Given the description of an element on the screen output the (x, y) to click on. 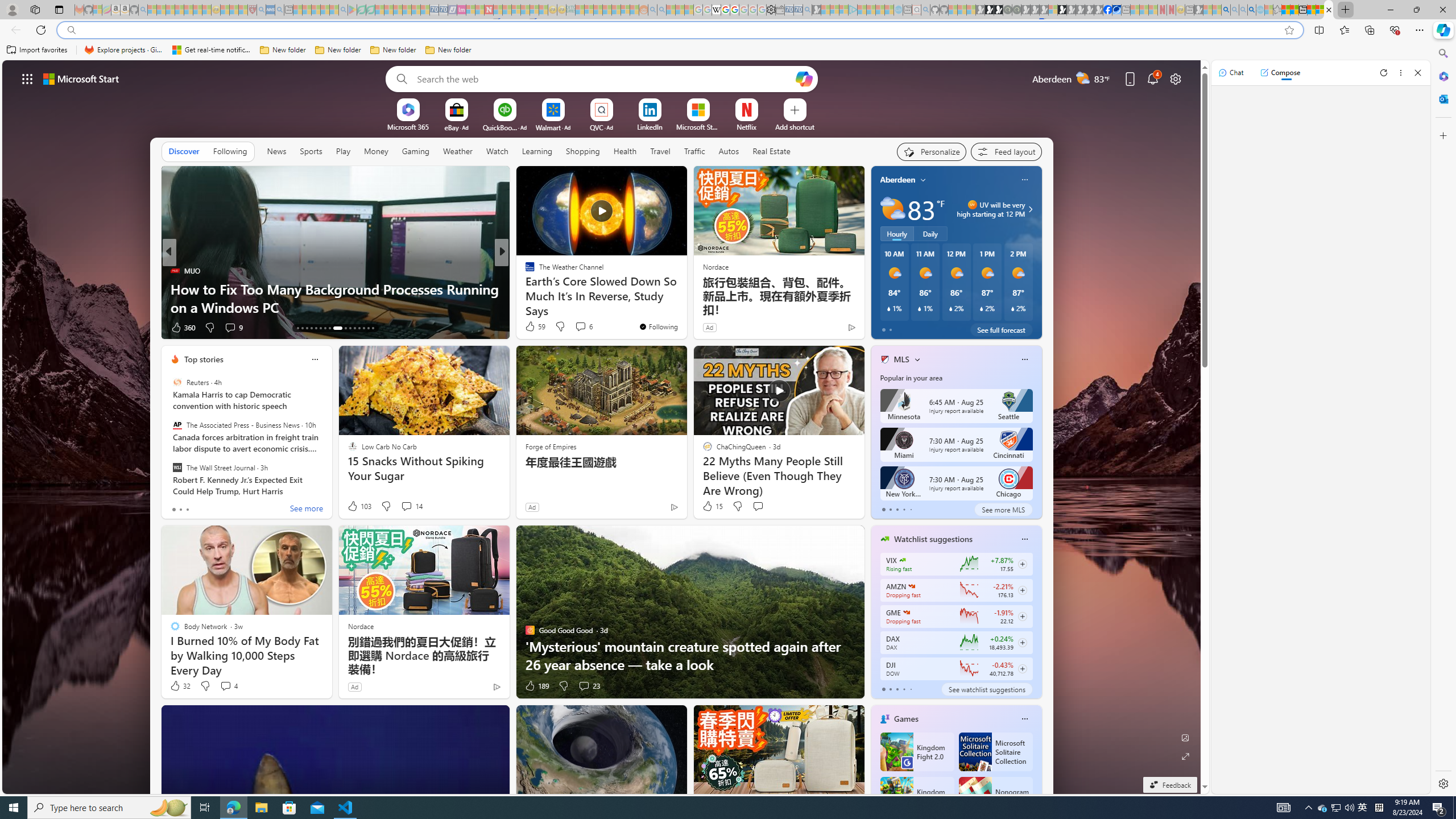
Expand background (1185, 756)
AutomationID: tab-13 (297, 328)
MSN - Sleeping (1198, 9)
DITOGAMES AG Imprint - Sleeping (570, 9)
Watchlist suggestions (932, 538)
